Given the description of an element on the screen output the (x, y) to click on. 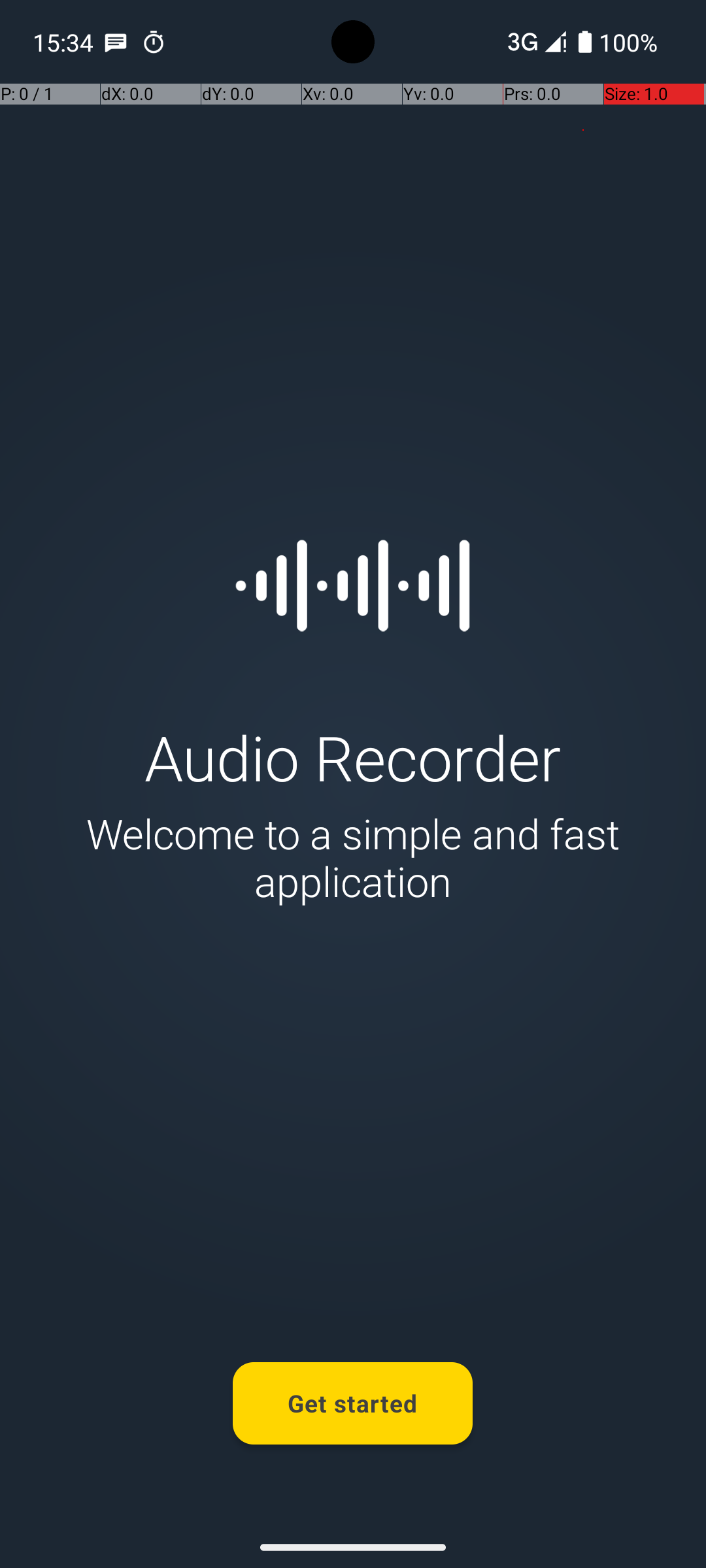
Get started Element type: android.widget.Button (352, 1403)
Audio Recorder Element type: android.widget.TextView (352, 756)
Welcome to a simple an d fast application Element type: android.widget.TextView (352, 856)
15:34 Element type: android.widget.TextView (64, 41)
SMS Messenger notification: Matteo Ibrahim Element type: android.widget.ImageView (115, 41)
Clock notification:  Element type: android.widget.ImageView (153, 41)
Phone signal full. Element type: android.widget.FrameLayout (534, 41)
Battery 100 percent. Element type: android.widget.LinearLayout (617, 41)
No internet Element type: android.widget.ImageView (521, 41)
